Given the description of an element on the screen output the (x, y) to click on. 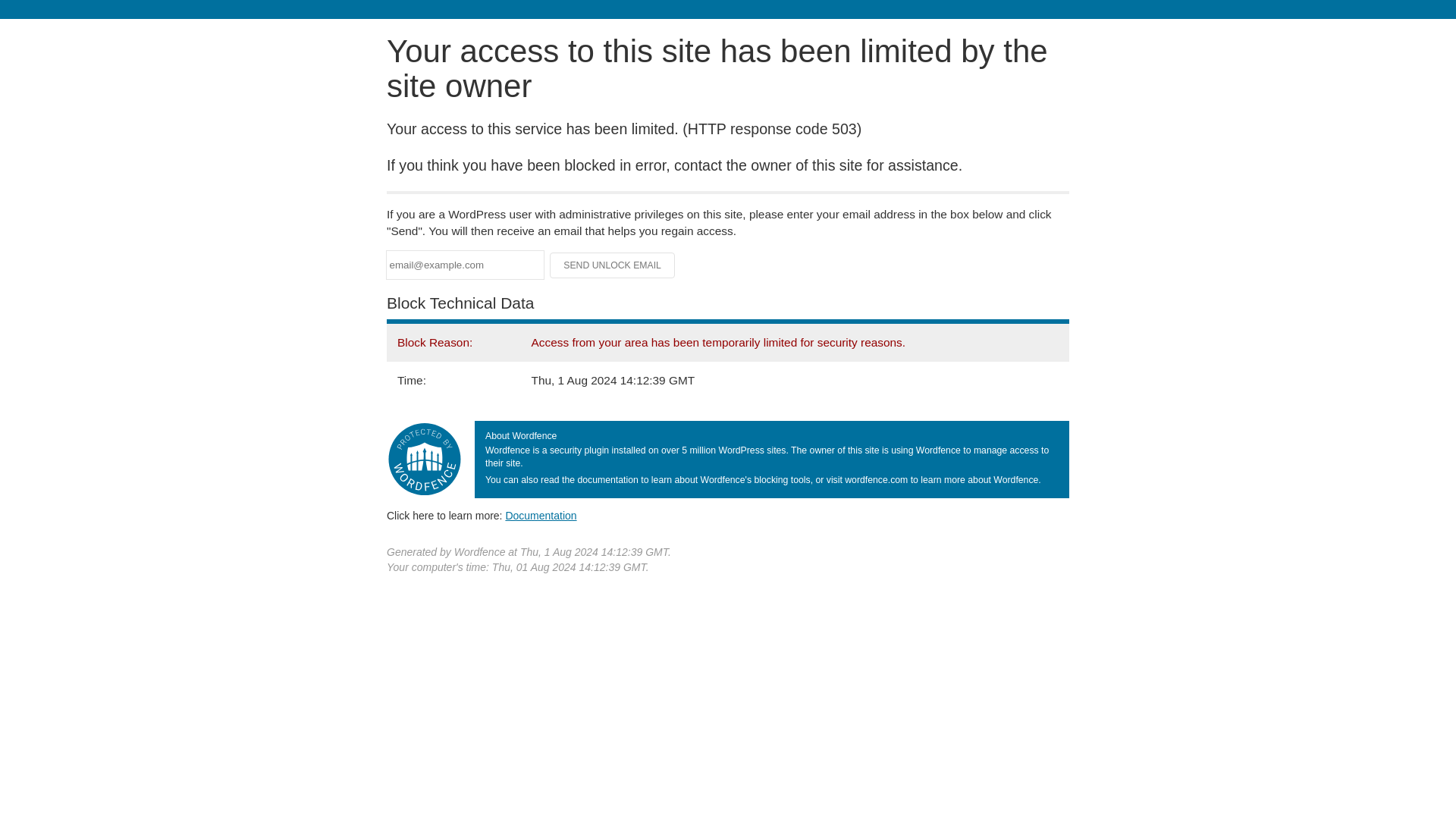
Documentation (540, 515)
Send Unlock Email (612, 265)
Send Unlock Email (612, 265)
